Given the description of an element on the screen output the (x, y) to click on. 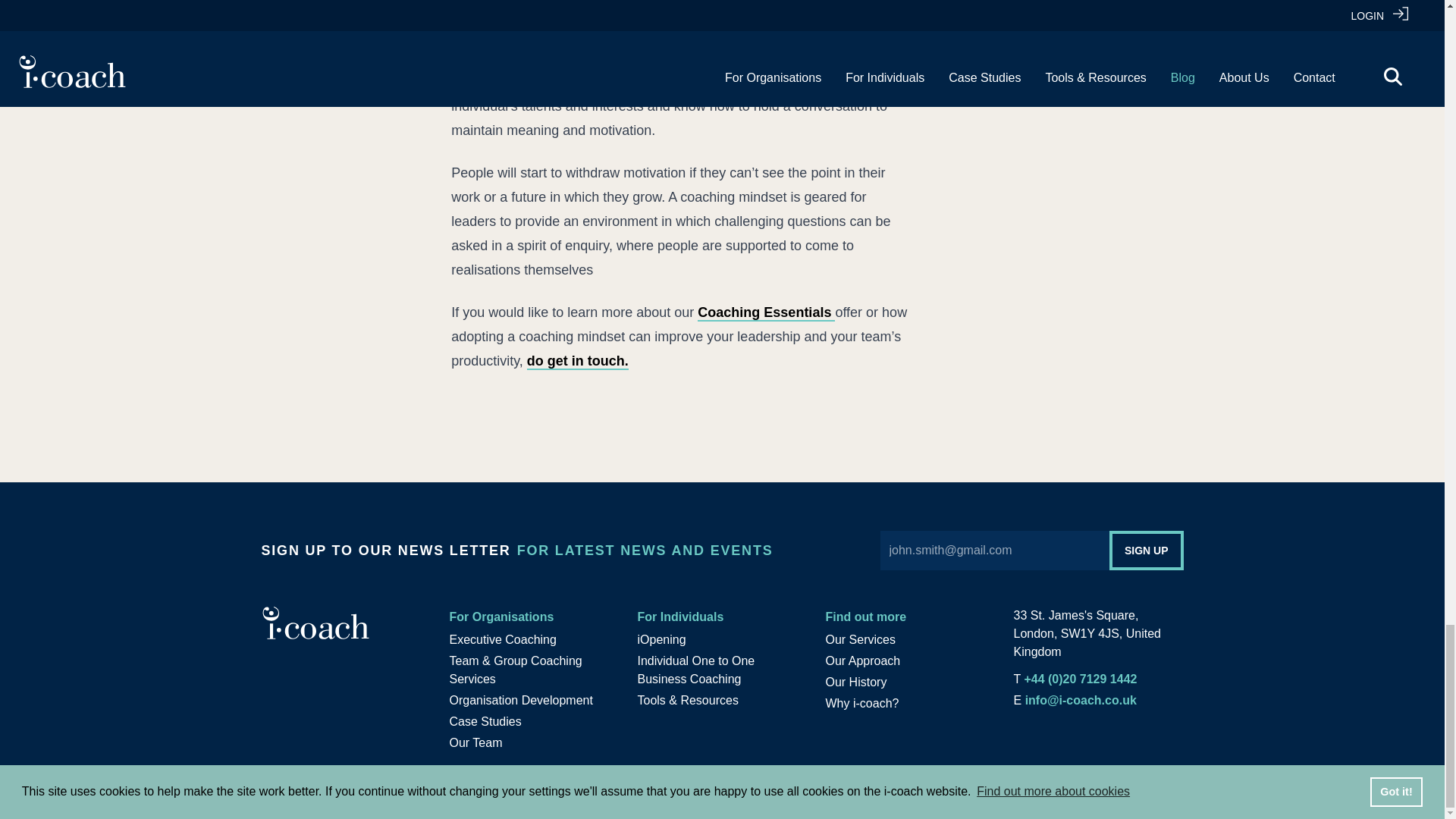
SIGN UP (1146, 550)
do get in touch. (577, 361)
Twitter (1115, 782)
Facebook (1173, 782)
Coaching Essentials (765, 312)
